Given the description of an element on the screen output the (x, y) to click on. 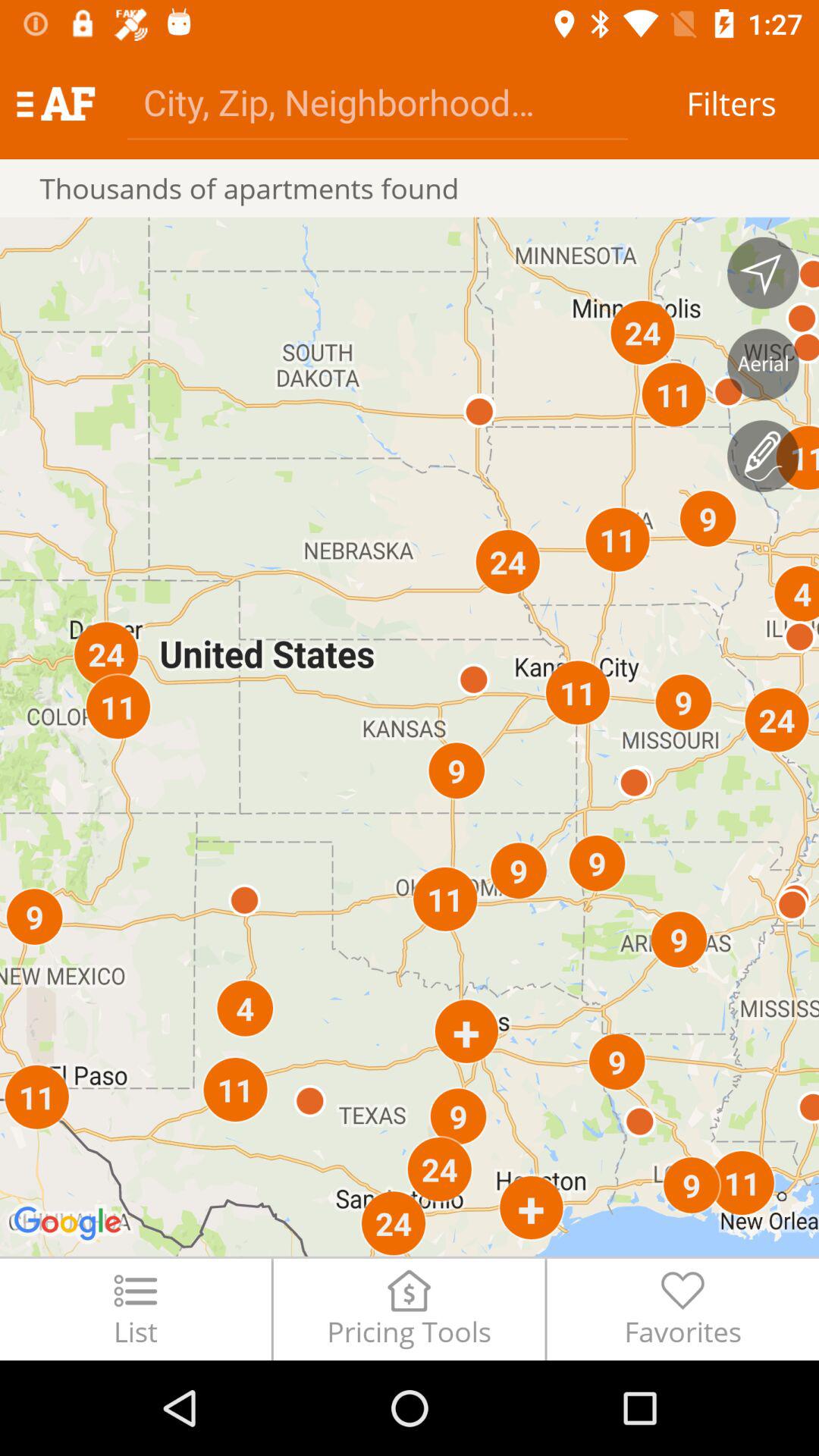
extend map (763, 272)
